Given the description of an element on the screen output the (x, y) to click on. 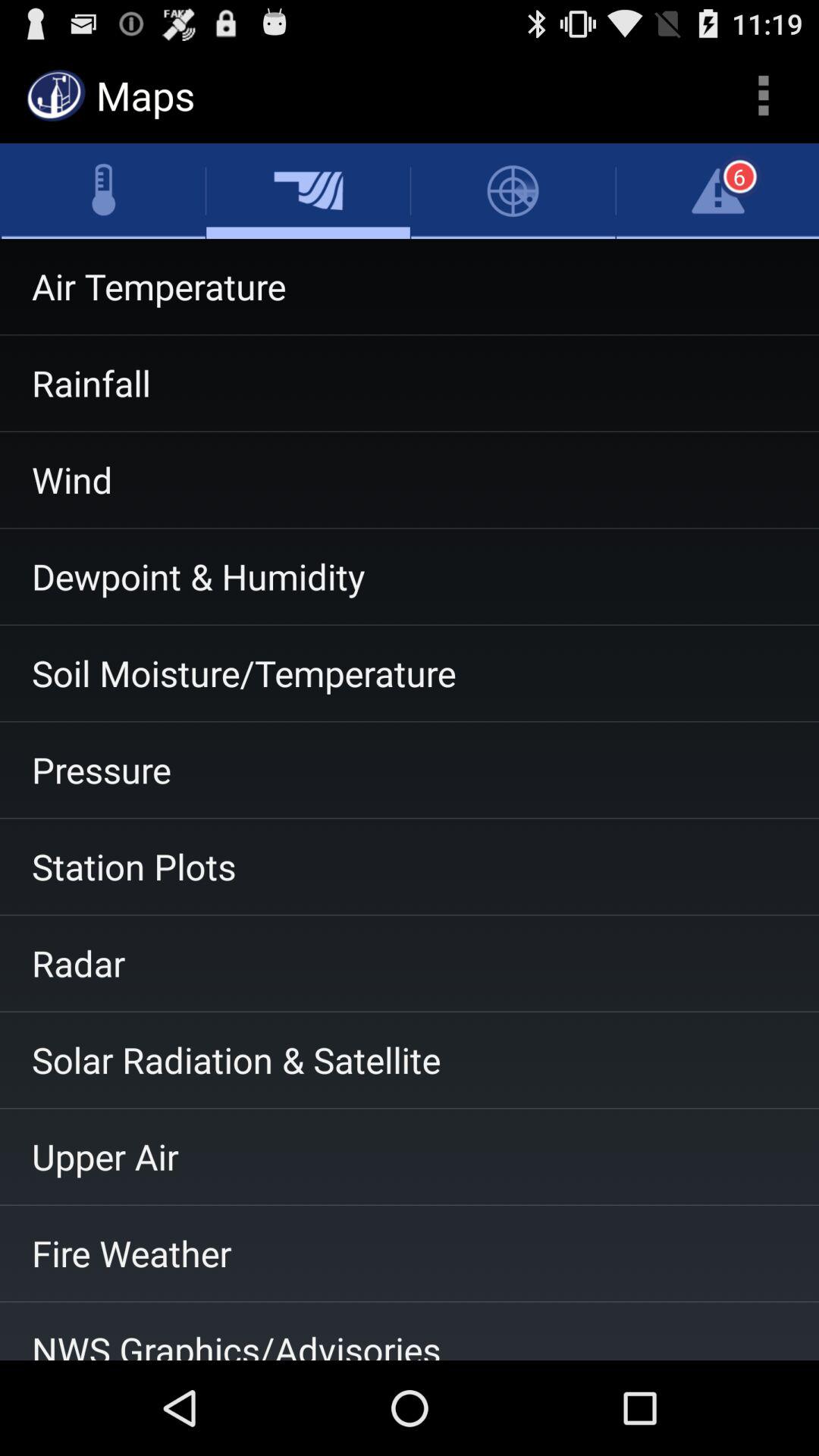
select the symbol beside the maps from the top (55, 95)
click on the symbol next to temperature symbol  (308, 191)
